Given the description of an element on the screen output the (x, y) to click on. 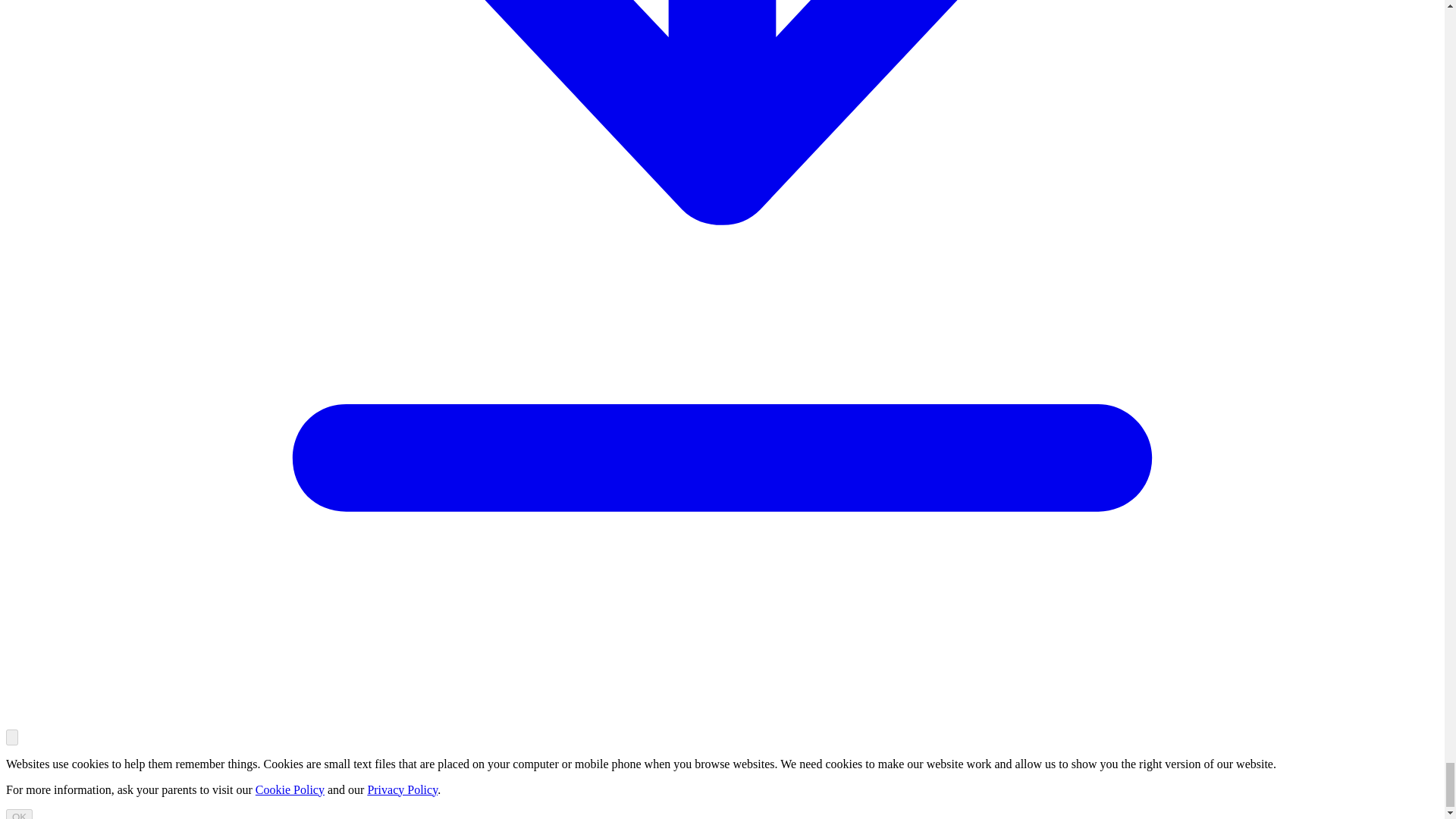
Cookie Policy (290, 789)
Privacy Policy (402, 789)
